Given the description of an element on the screen output the (x, y) to click on. 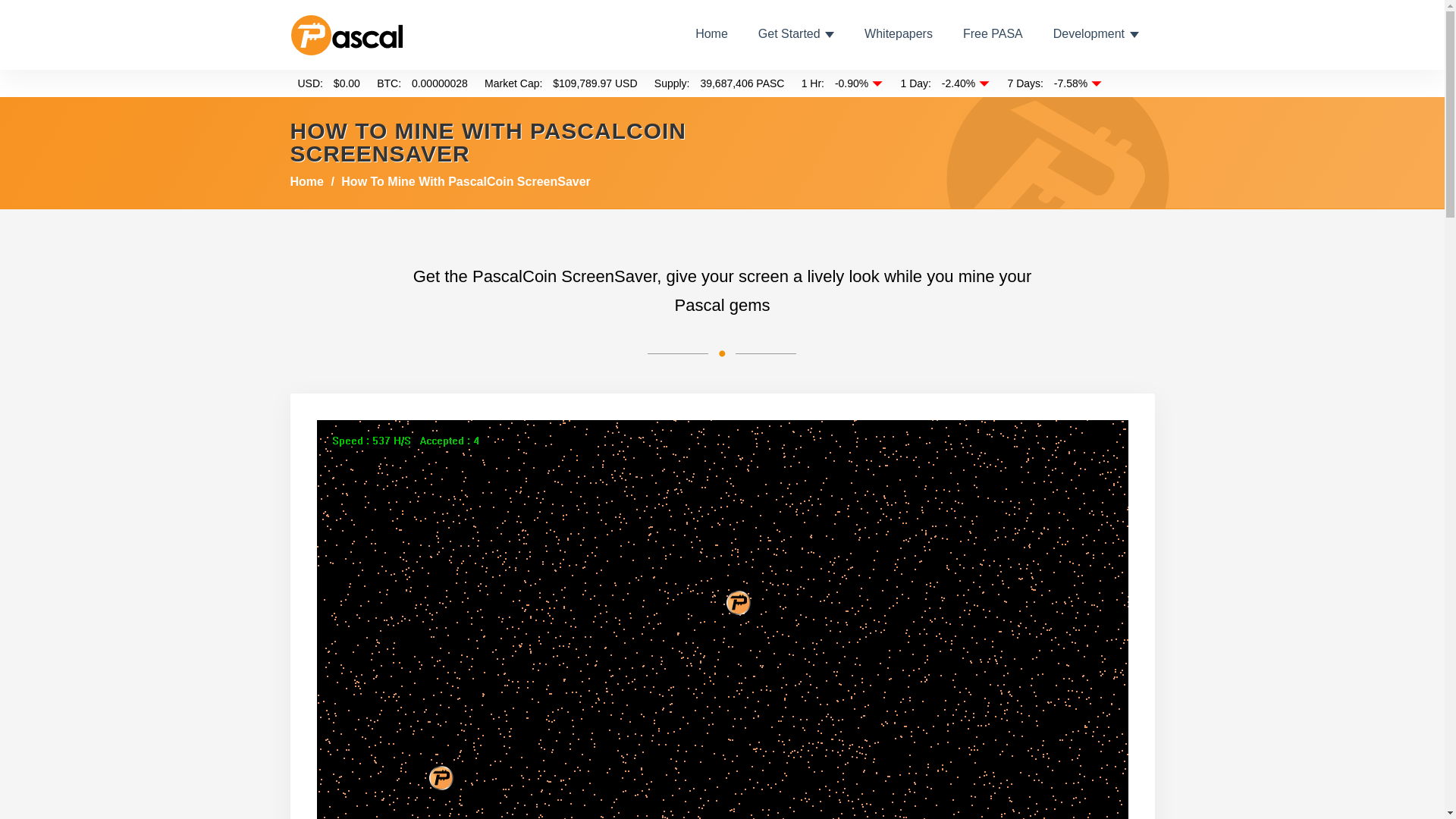
Development (1095, 33)
Home (306, 181)
Get Started (796, 33)
Whitepapers (898, 33)
How To Mine With PascalCoin ScreenSaver (465, 181)
Home (711, 33)
Free PASA (992, 33)
